Given the description of an element on the screen output the (x, y) to click on. 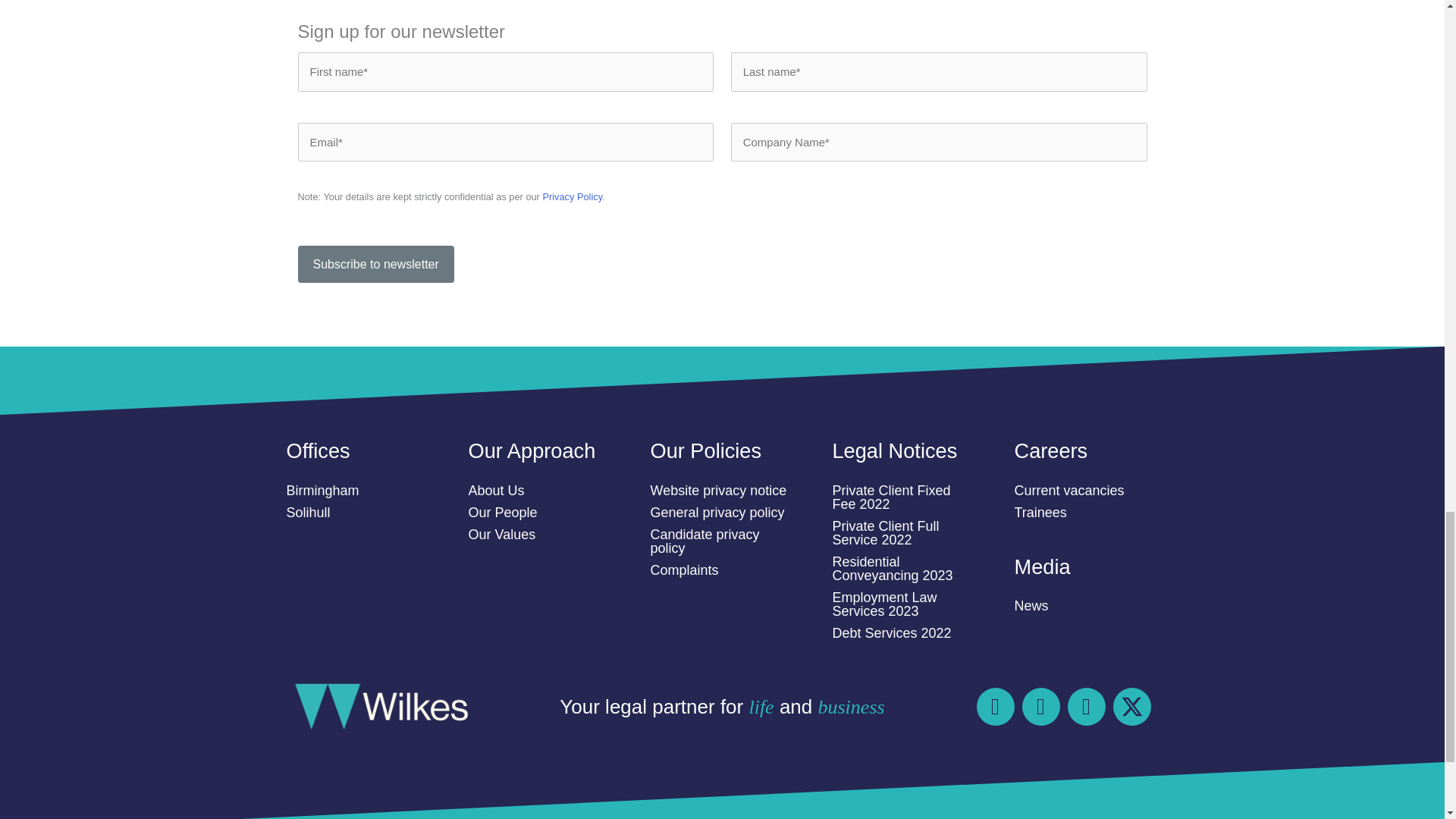
Subscribe to newsletter (374, 264)
Instagram (995, 706)
